Given the description of an element on the screen output the (x, y) to click on. 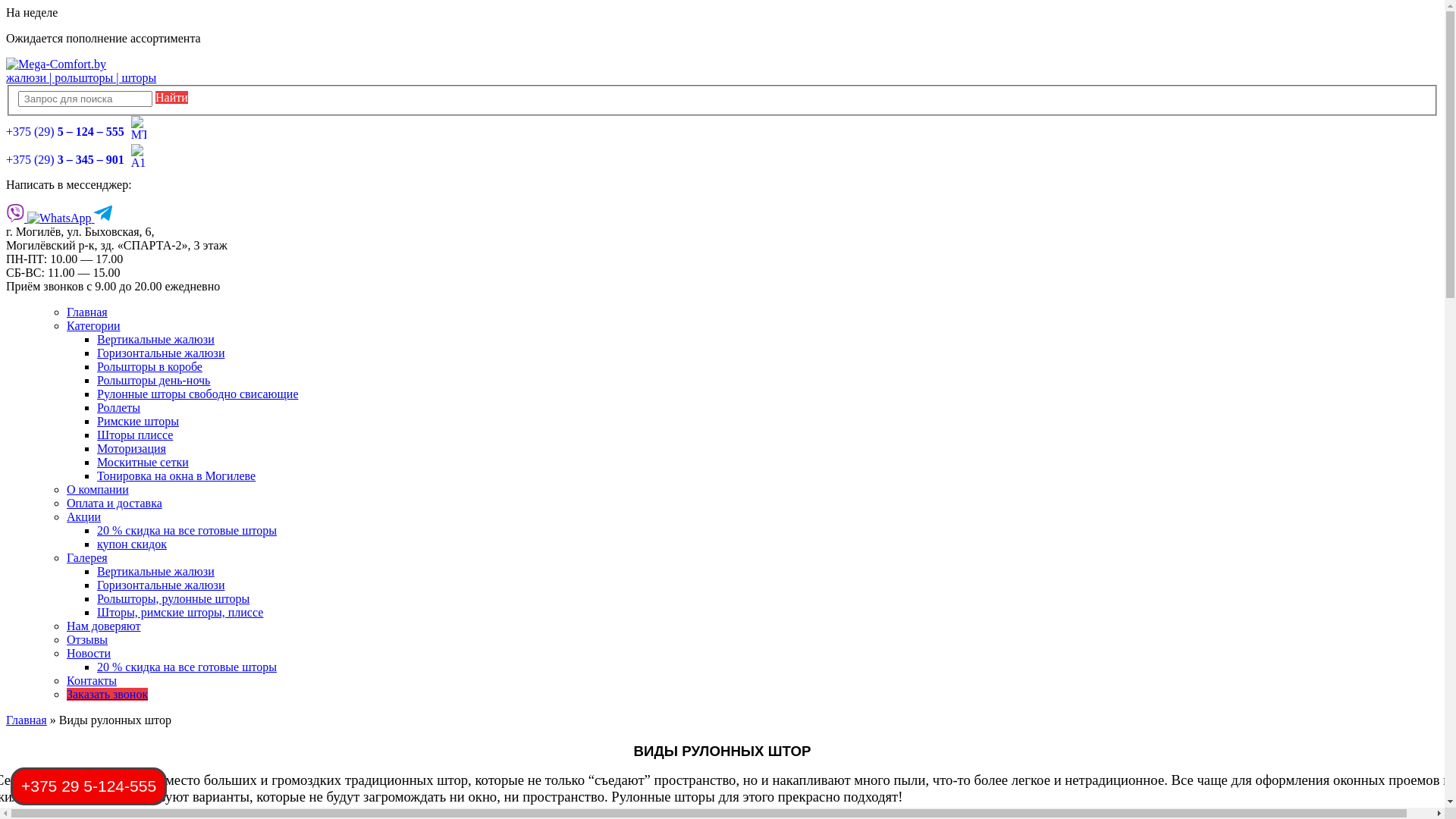
+375 29 5-124-555 Element type: text (88, 786)
